Given the description of an element on the screen output the (x, y) to click on. 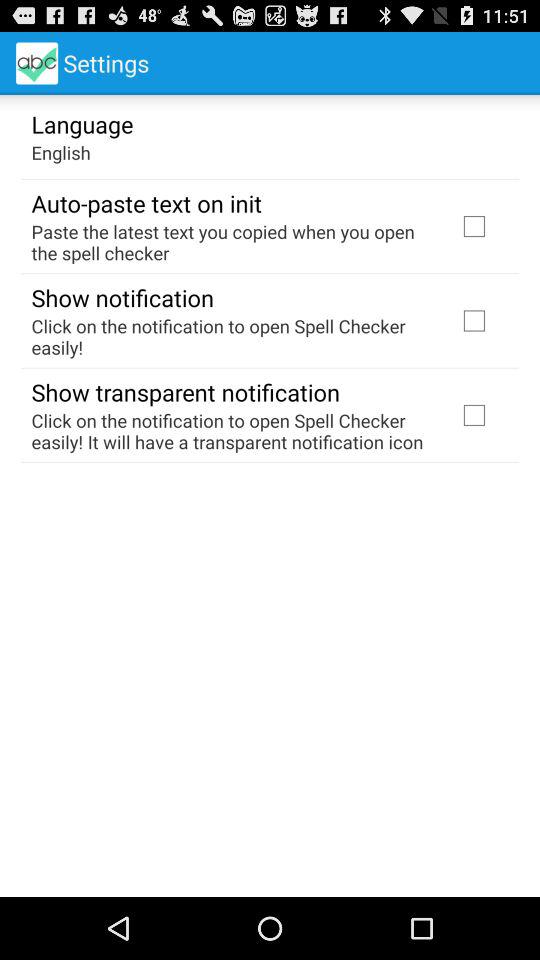
turn on paste the latest icon (231, 242)
